Given the description of an element on the screen output the (x, y) to click on. 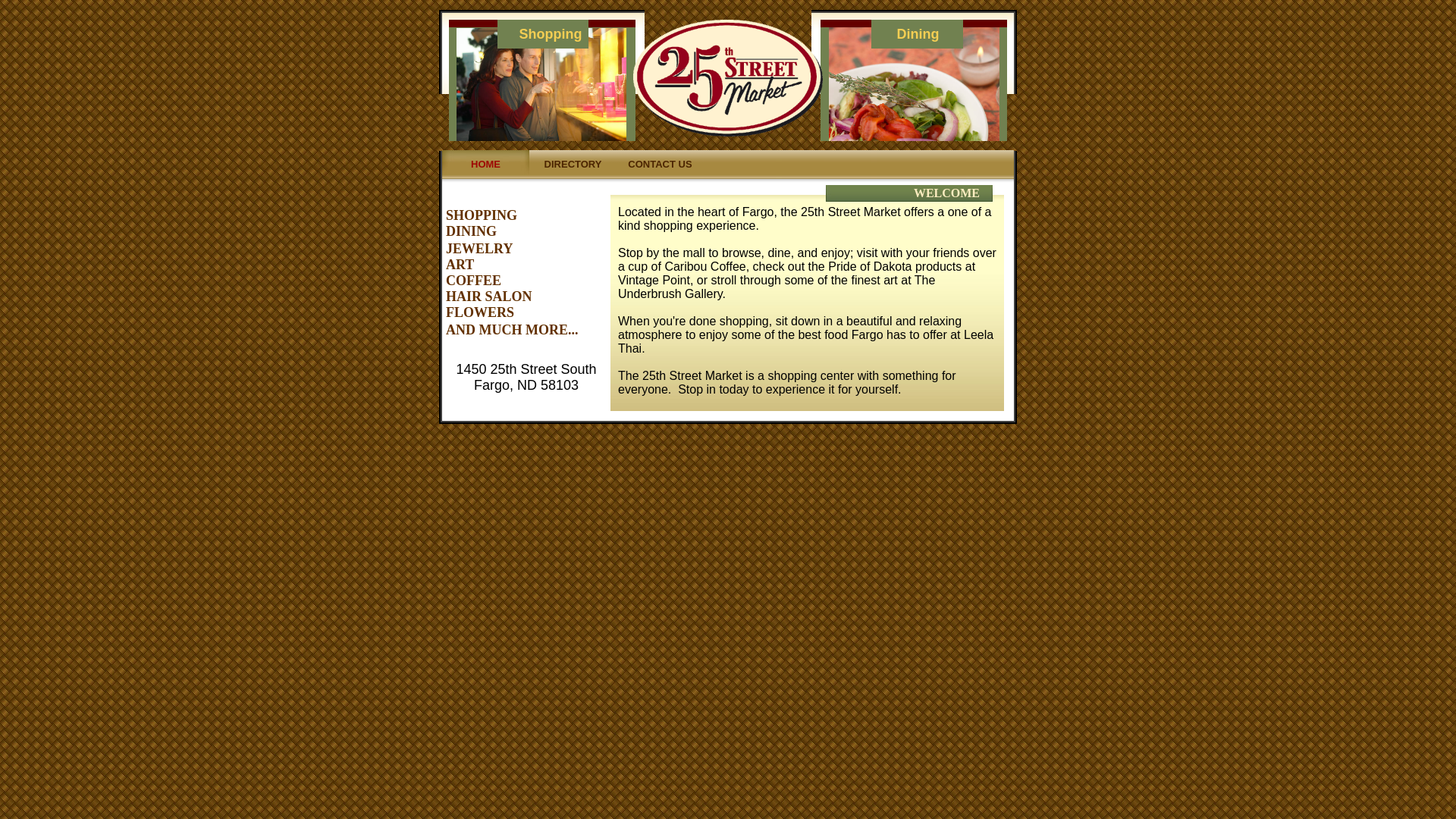
HOME Element type: text (485, 164)
CONTACT US Element type: text (659, 164)
DIRECTORY Element type: text (572, 164)
